Given the description of an element on the screen output the (x, y) to click on. 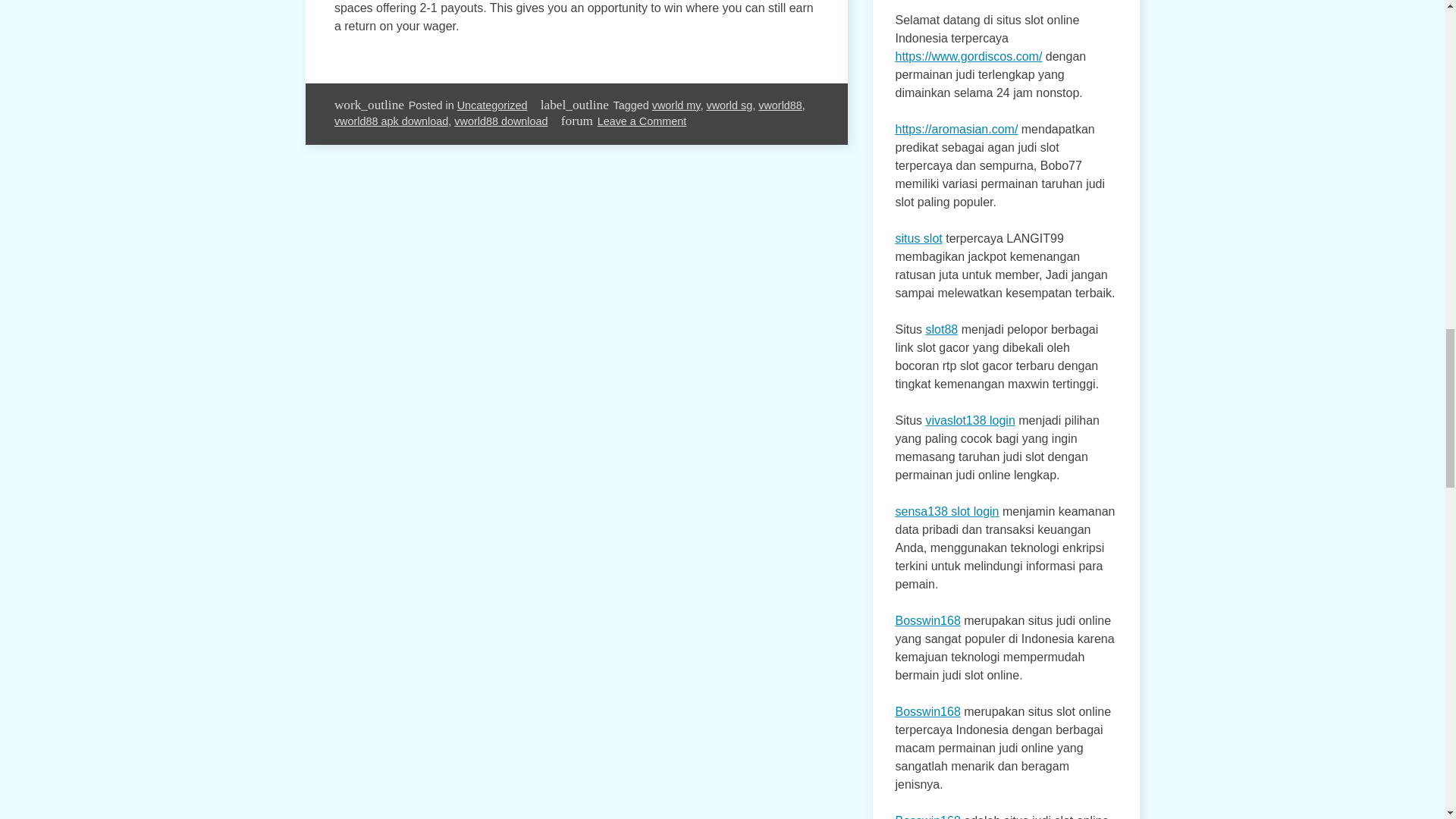
vworld sg (729, 105)
Uncategorized (492, 105)
vworld88 (780, 105)
vworld88 download (500, 121)
vworld my (676, 105)
vworld88 apk download (391, 121)
